Given the description of an element on the screen output the (x, y) to click on. 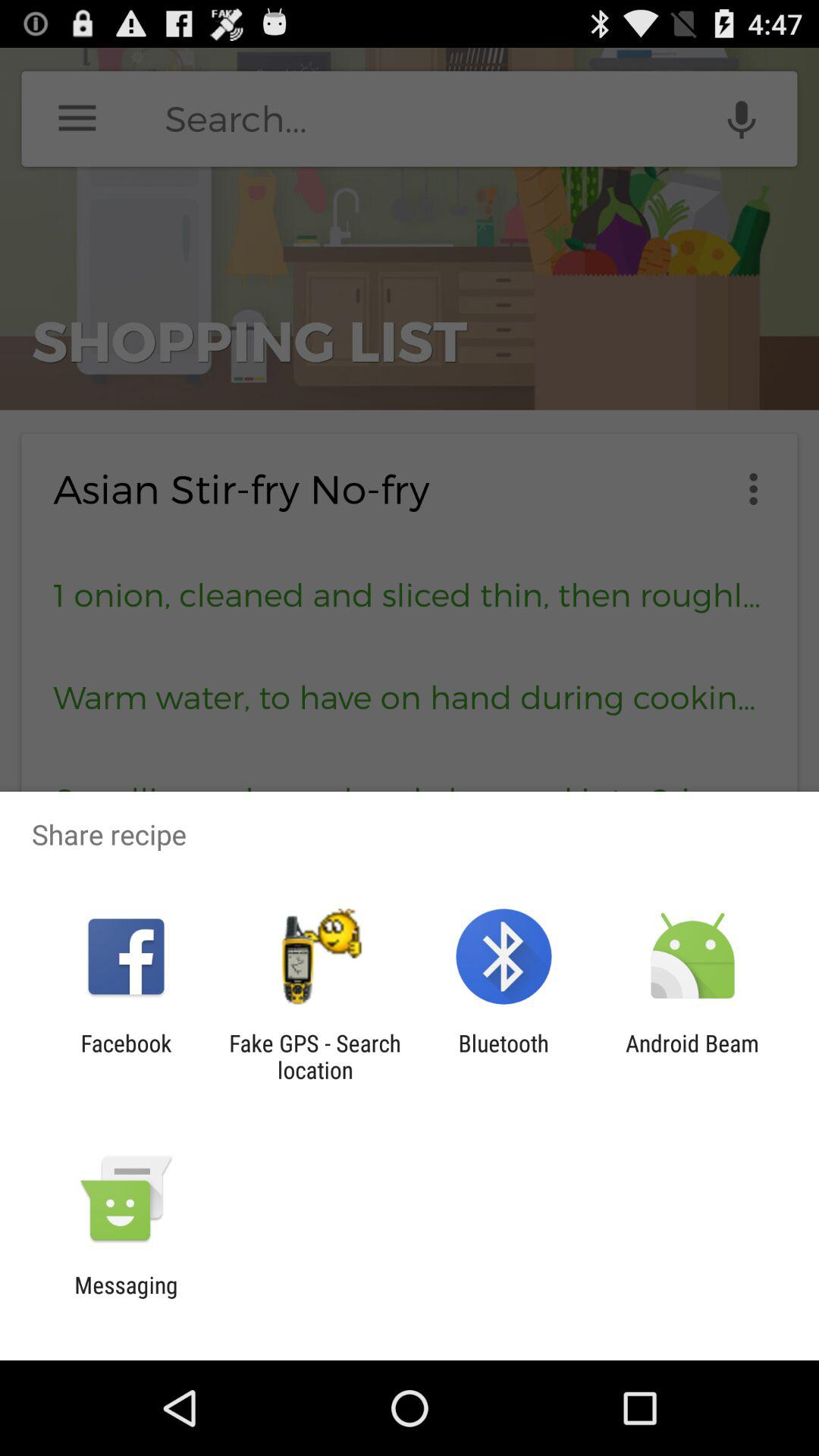
scroll to bluetooth app (503, 1056)
